Given the description of an element on the screen output the (x, y) to click on. 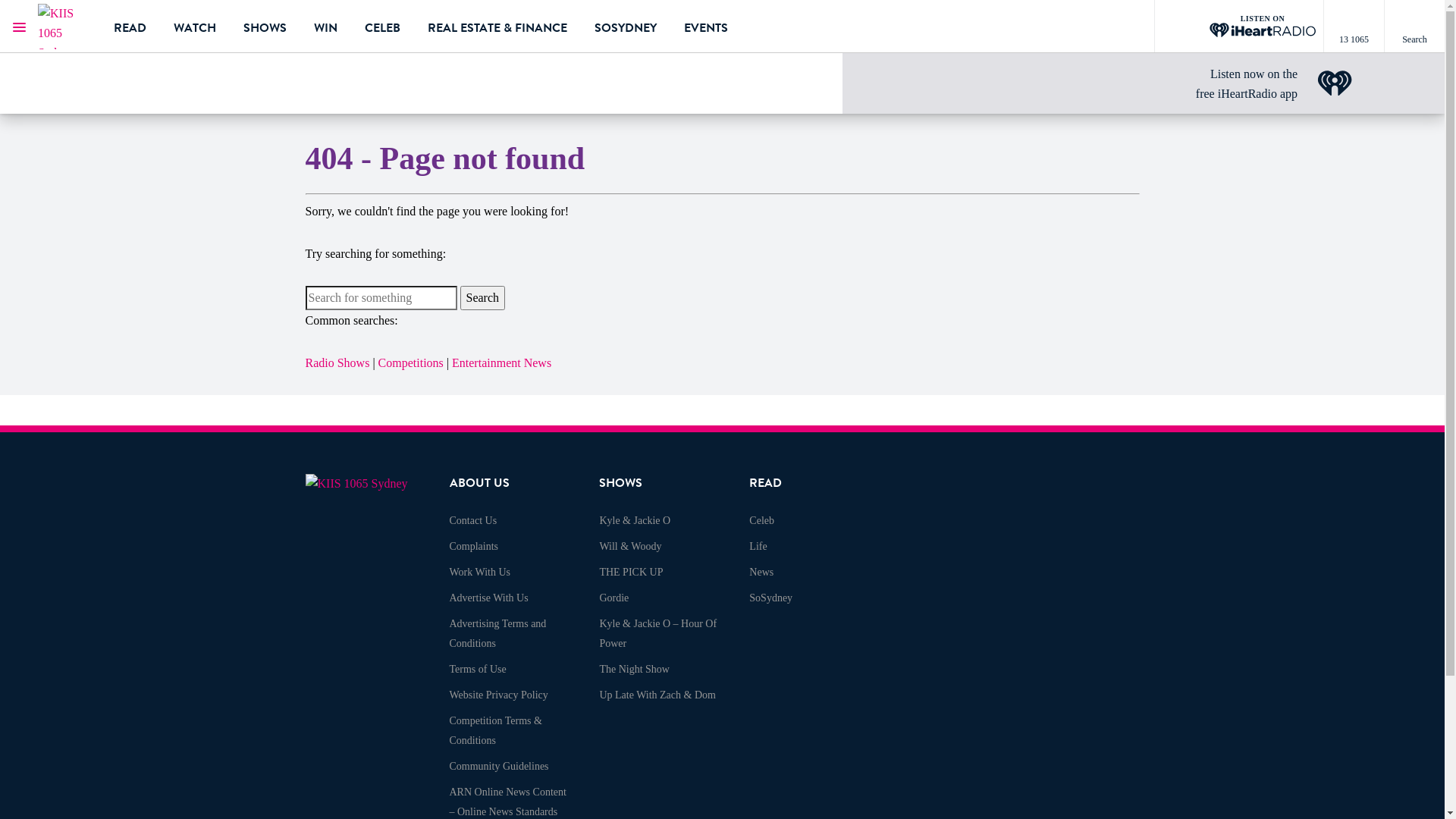
Will & Woody Element type: text (630, 546)
Terms of Use Element type: text (476, 668)
READ Element type: text (765, 482)
Advertising Terms and Conditions Element type: text (497, 633)
Celeb Element type: text (761, 520)
Contact Us Element type: text (472, 520)
Competition Terms & Conditions Element type: text (494, 730)
CELEB Element type: text (382, 26)
Menu Element type: text (18, 26)
Competitions Element type: text (410, 362)
Community Guidelines Element type: text (498, 765)
Complaints Element type: text (473, 546)
SHOWS Element type: text (264, 26)
EVENTS Element type: text (706, 26)
LISTEN ON Element type: text (1238, 26)
Search Element type: text (482, 297)
ON AIR NOW Element type: text (137, 68)
REAL ESTATE & FINANCE Element type: text (497, 26)
News Element type: text (761, 571)
13 1065 Element type: text (1353, 26)
Life Element type: text (757, 546)
THE PICK UP Element type: text (630, 571)
Entertainment News Element type: text (501, 362)
READ Element type: text (129, 26)
SOSYDNEY Element type: text (625, 26)
WATCH Element type: text (194, 26)
Up Late With Zach & Dom Element type: text (657, 694)
The Night Show Element type: text (634, 668)
Kyle & Jackie O Element type: text (634, 520)
Listen now on the
free iHeartRadio app Element type: text (1246, 83)
Search Element type: text (1413, 26)
Website Privacy Policy Element type: text (497, 694)
Advertise With Us Element type: text (487, 597)
SHOWS Element type: text (620, 482)
Gordie Element type: text (613, 597)
ABOUT US Element type: text (478, 482)
SoSydney Element type: text (770, 597)
Work With Us Element type: text (479, 571)
iHeart Element type: text (1334, 82)
WIN Element type: text (325, 26)
Radio Shows Element type: text (336, 362)
